Given the description of an element on the screen output the (x, y) to click on. 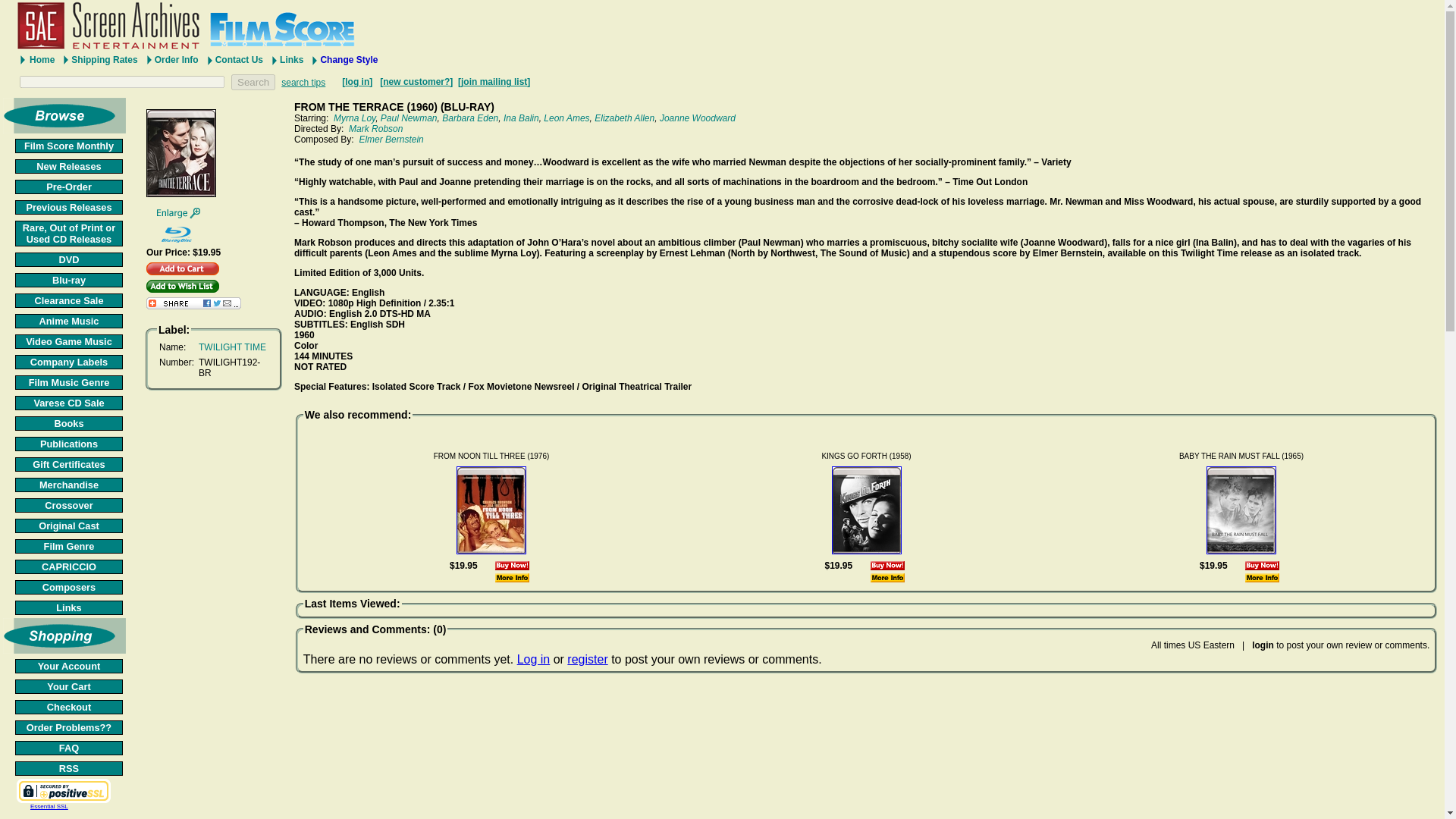
search tips (302, 81)
Varese CD Sale (68, 402)
Blu-ray (68, 279)
log in (357, 81)
Film Music Genre (68, 382)
Publications (68, 443)
Original Cast (68, 525)
CAPRICCIO (68, 566)
Company Labels (68, 361)
Previous Releases (68, 206)
Books (68, 423)
Rare, Out of Print or Used CD Releases (68, 233)
Pre-Order (68, 186)
Links (68, 607)
Anime Music (68, 320)
